Given the description of an element on the screen output the (x, y) to click on. 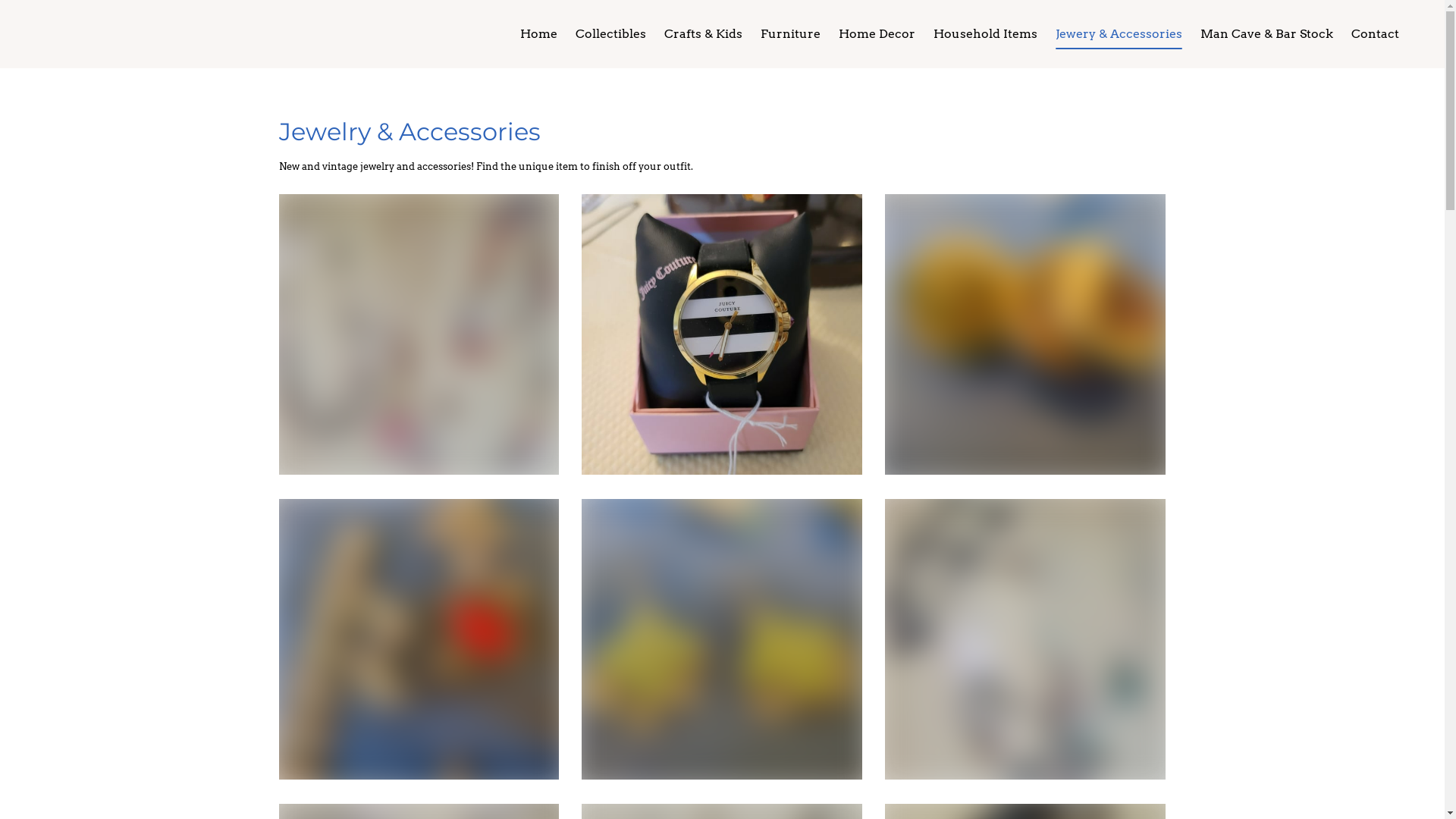
Household Items Element type: text (985, 33)
Jewery & Accessories Element type: text (1118, 33)
Contact Element type: text (1375, 33)
Man Cave & Bar Stock Element type: text (1266, 33)
Crafts & Kids Element type: text (703, 33)
Furniture Element type: text (790, 33)
Home Decor Element type: text (876, 33)
Home Element type: text (538, 33)
Collectibles Element type: text (610, 33)
